Given the description of an element on the screen output the (x, y) to click on. 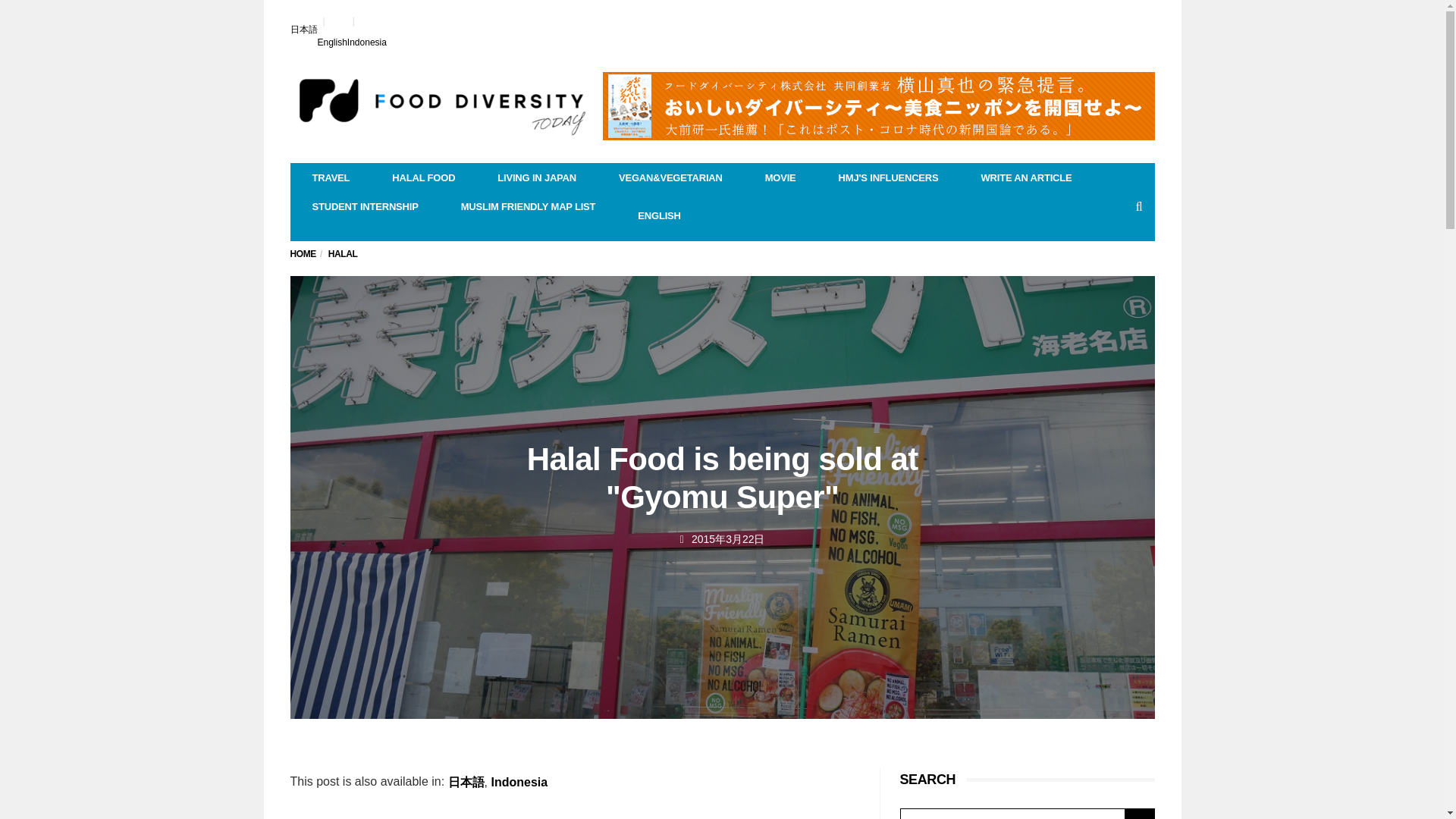
Indonesia (367, 41)
HOME (302, 253)
WRITE AN ARTICLE (1026, 177)
HMJ'S INFLUENCERS (887, 177)
English (331, 41)
Indonesia (520, 782)
Indonesia (367, 41)
HALAL FOOD (423, 177)
LIVING IN JAPAN (536, 177)
MOVIE (780, 177)
